Given the description of an element on the screen output the (x, y) to click on. 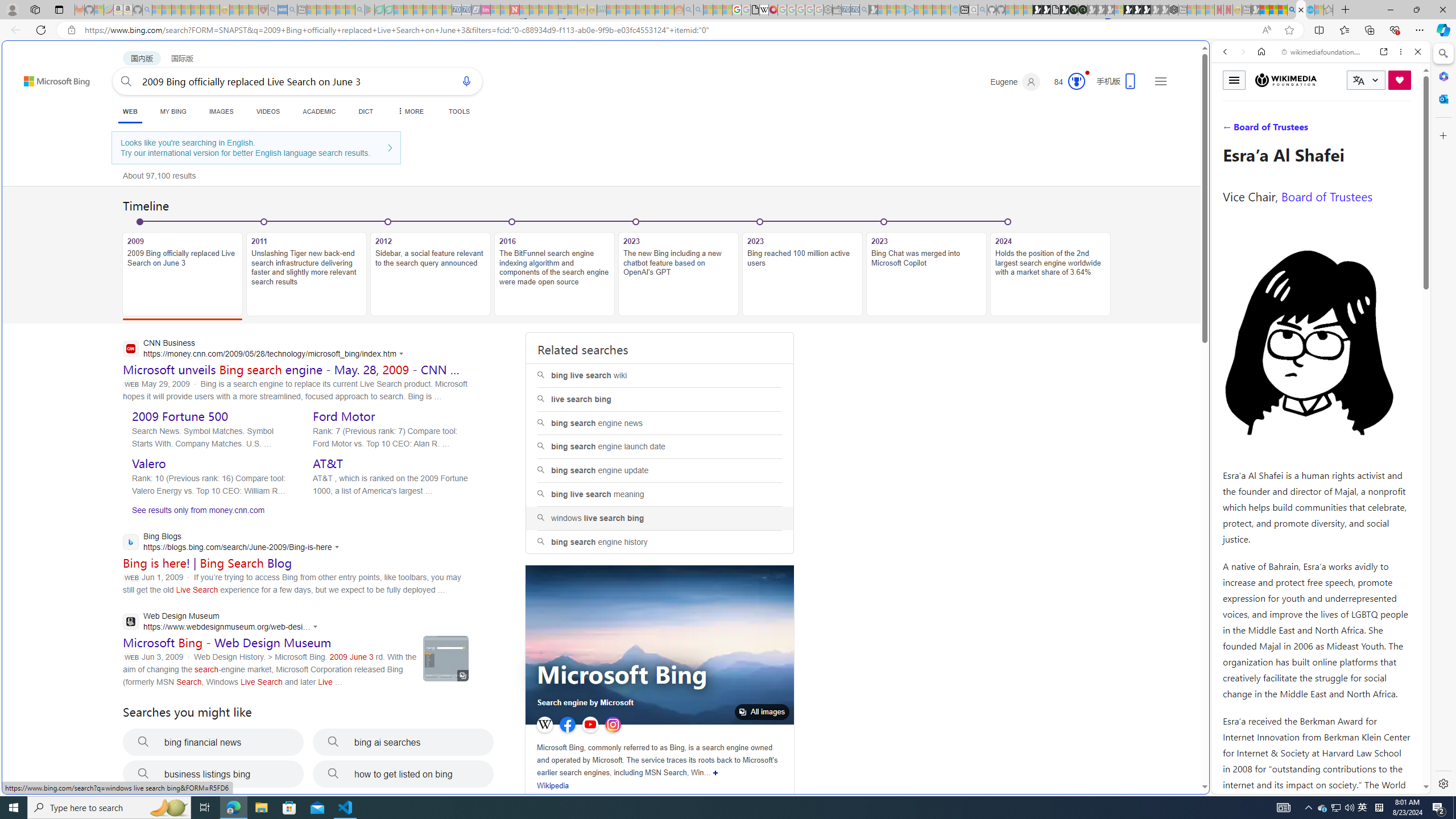
bing search engine update (659, 470)
how to get listed on bing (403, 773)
Search or enter web address (922, 108)
utah sues federal government - Search (922, 389)
Wallet - Sleeping (836, 9)
Back to Bing search (50, 78)
2009 Bing officially replaced Live Search on June 3 - Search (1300, 9)
